Given the description of an element on the screen output the (x, y) to click on. 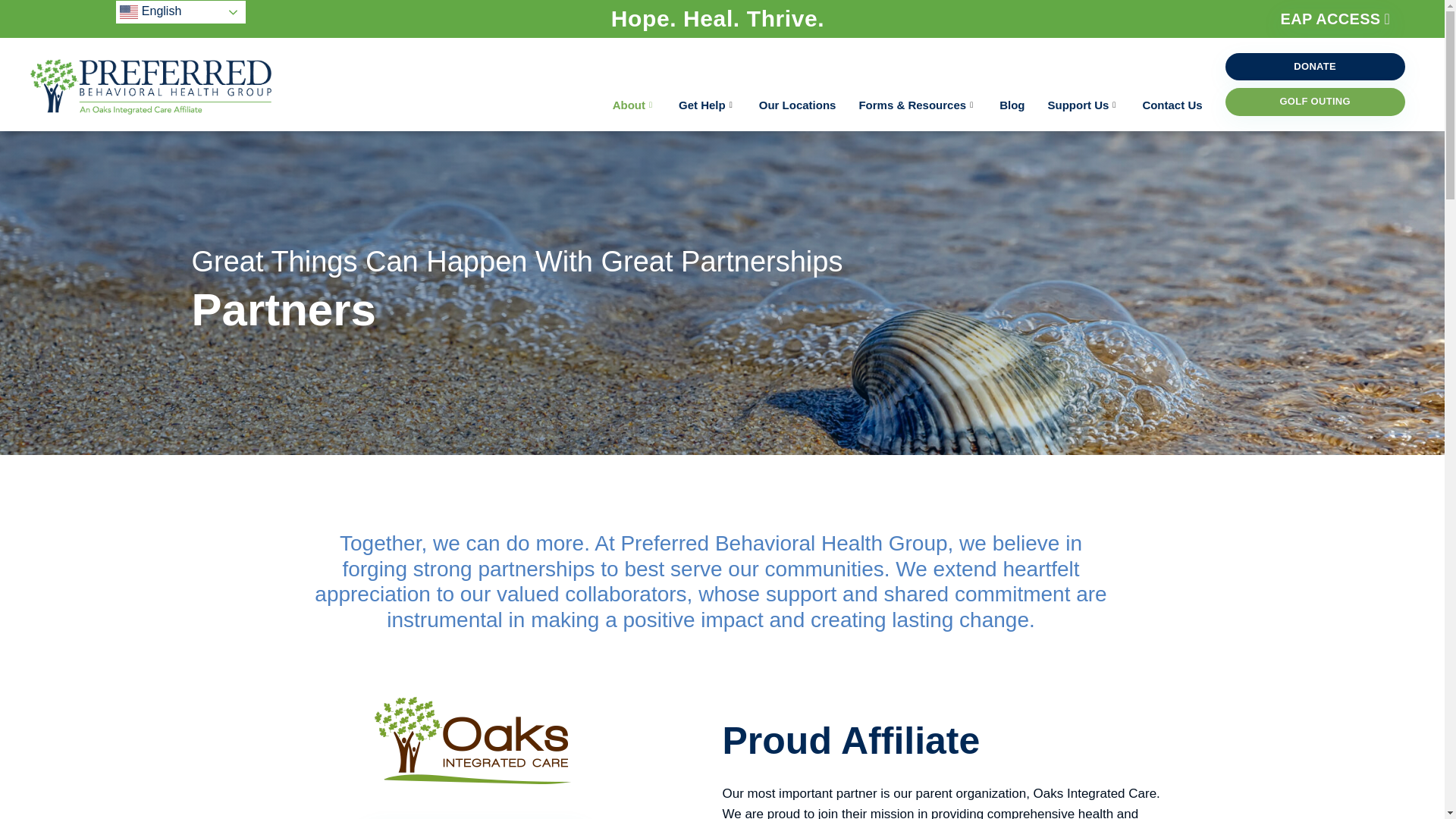
EAP ACCESS (1335, 18)
